Given the description of an element on the screen output the (x, y) to click on. 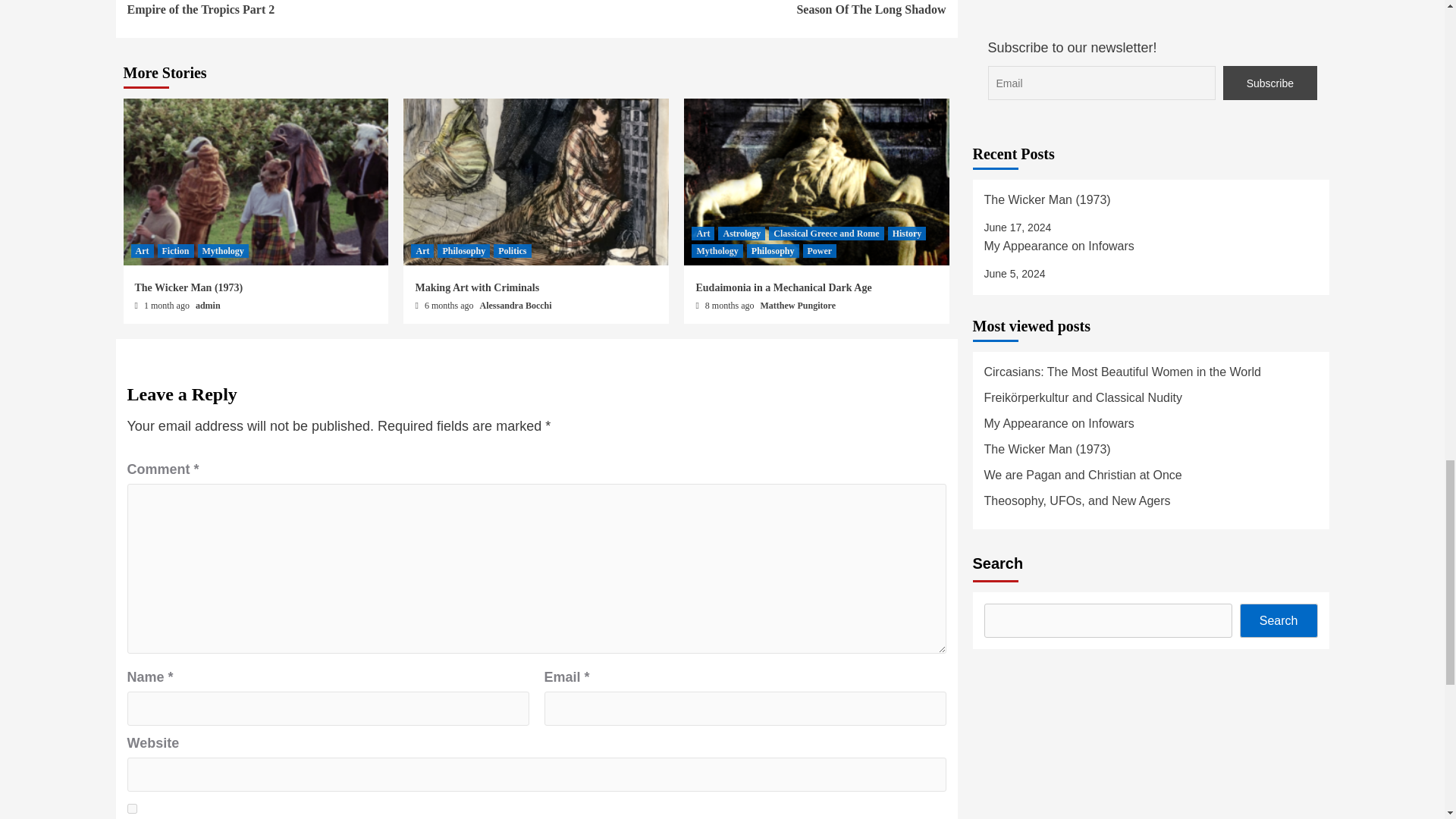
Mythology (332, 9)
Fiction (221, 250)
Philosophy (175, 250)
yes (463, 250)
Art (132, 808)
Politics (141, 250)
Art (512, 250)
admin (741, 9)
